Given the description of an element on the screen output the (x, y) to click on. 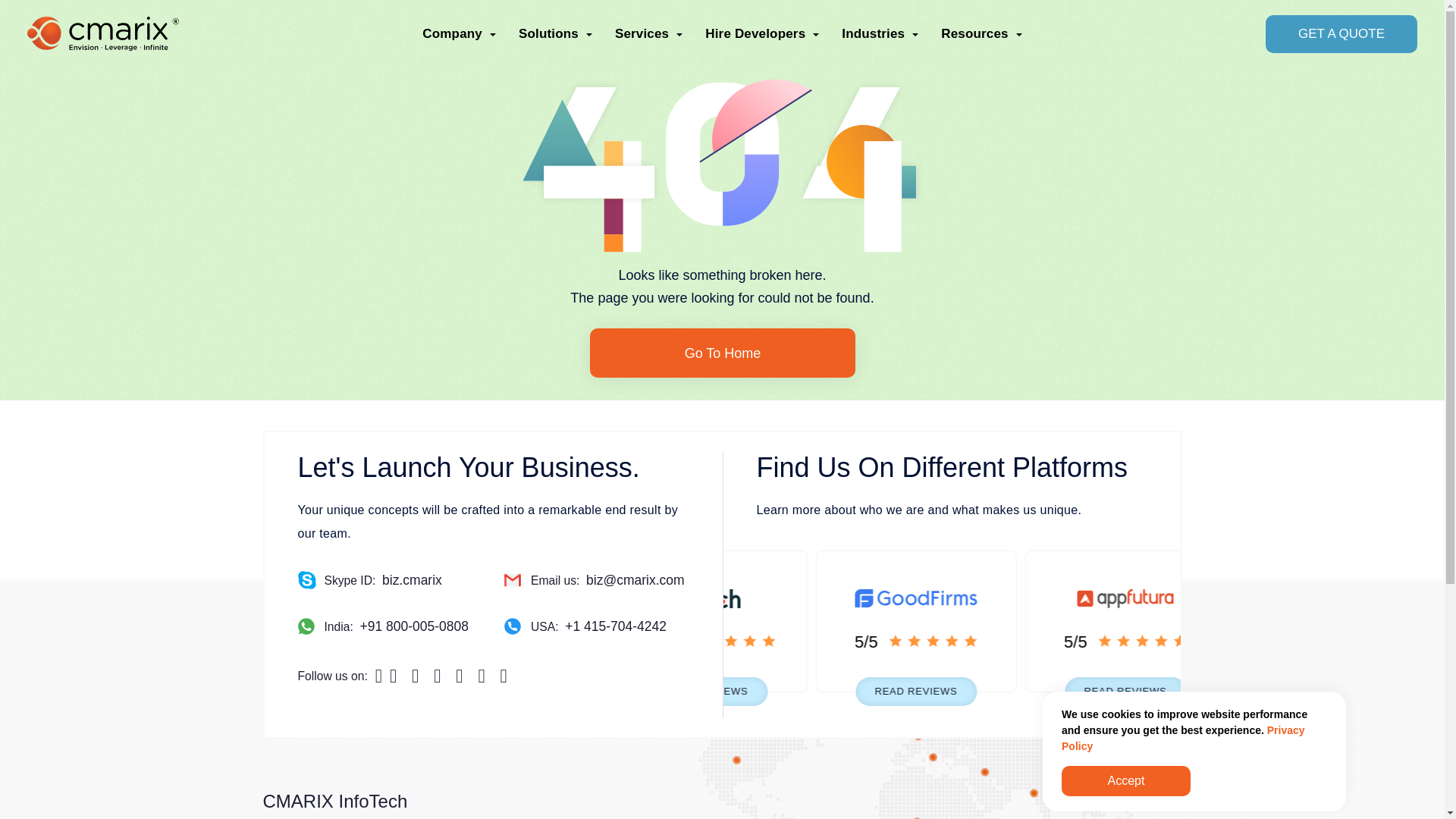
Solutions (555, 33)
Privacy Policy (1182, 737)
Privacy Policy (1182, 737)
Read Reviews (762, 691)
biz.cmarix (411, 580)
Company (459, 33)
Read Reviews (971, 691)
Read Reviews (1179, 691)
